Given the description of an element on the screen output the (x, y) to click on. 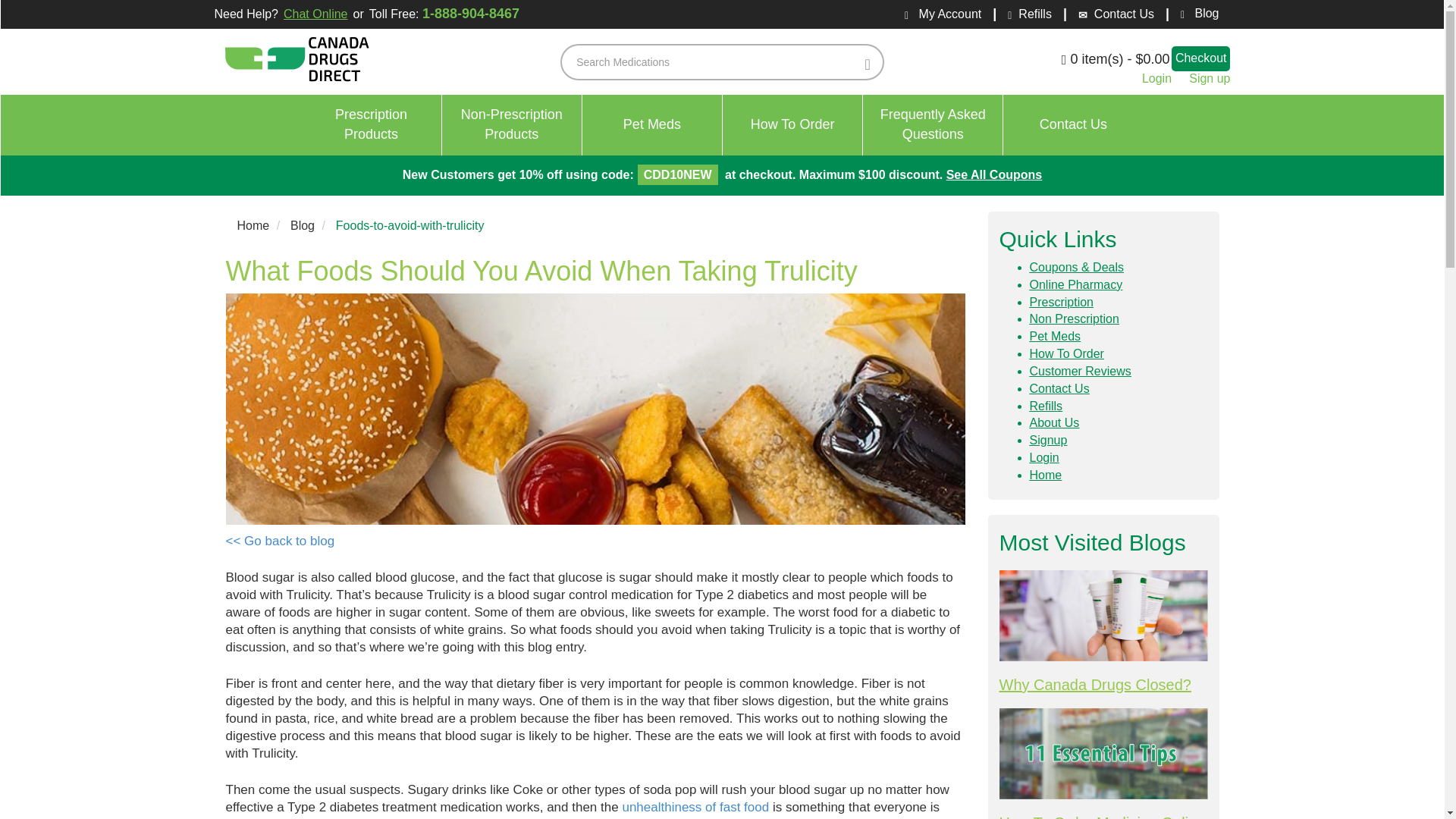
Toll Free: 1-888-904-8467 (446, 14)
Signup (1048, 440)
How To Order (792, 125)
unhealthiness of fast food (371, 125)
foods to avoid with trulicity (694, 807)
Non Prescription (1045, 474)
Checkout (512, 125)
How To Order (1074, 318)
Blog (1201, 58)
About Us (933, 125)
Login (1066, 353)
